Given the description of an element on the screen output the (x, y) to click on. 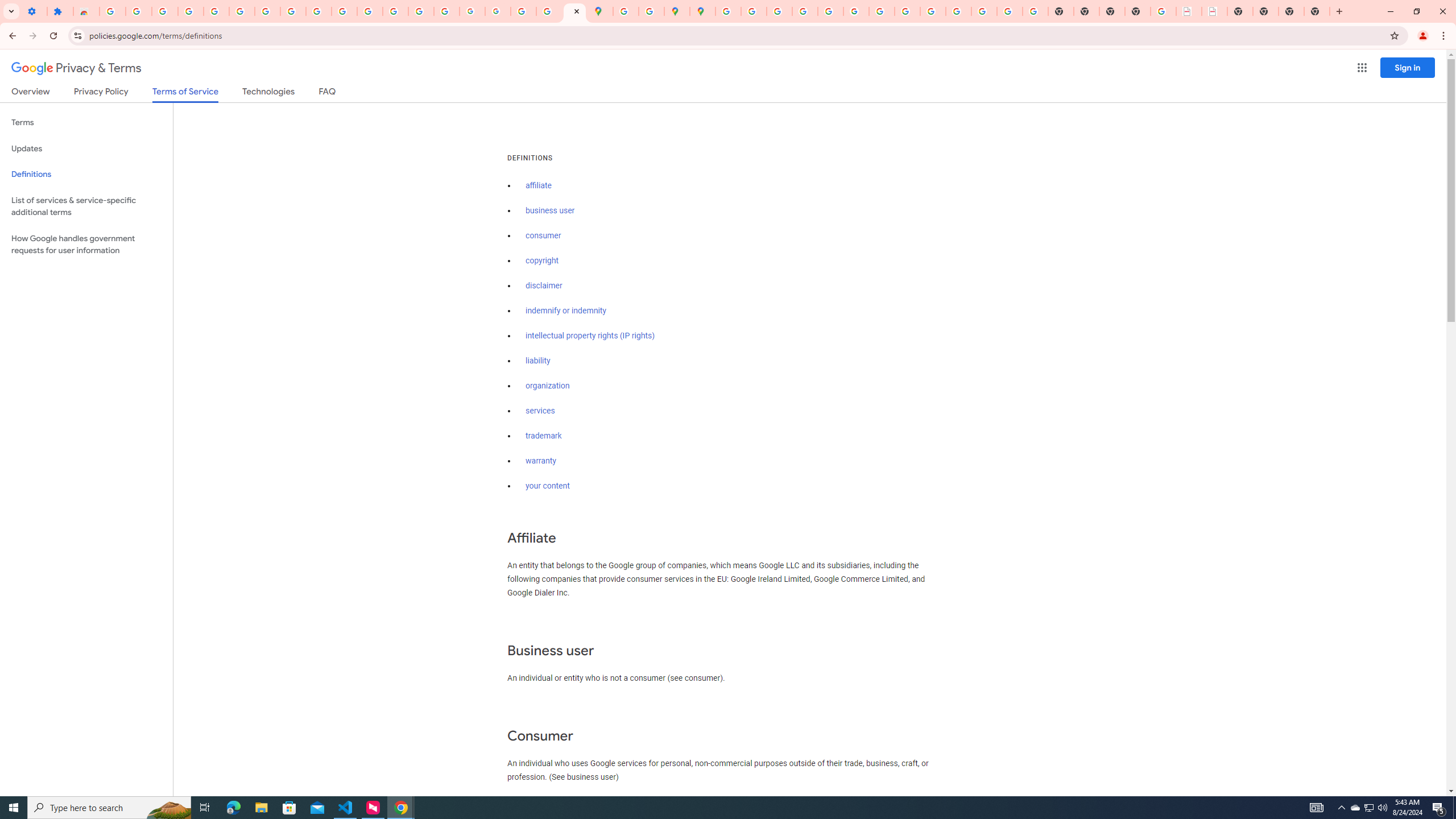
Privacy Help Center - Policies Help (804, 11)
liability (537, 361)
Browse Chrome as a guest - Computer - Google Chrome Help (907, 11)
Sign in - Google Accounts (242, 11)
organization (547, 385)
BAE Systems Brasil | BAE Systems (1213, 11)
Privacy Help Center - Policies Help (779, 11)
services (539, 411)
List of services & service-specific additional terms (86, 206)
